Given the description of an element on the screen output the (x, y) to click on. 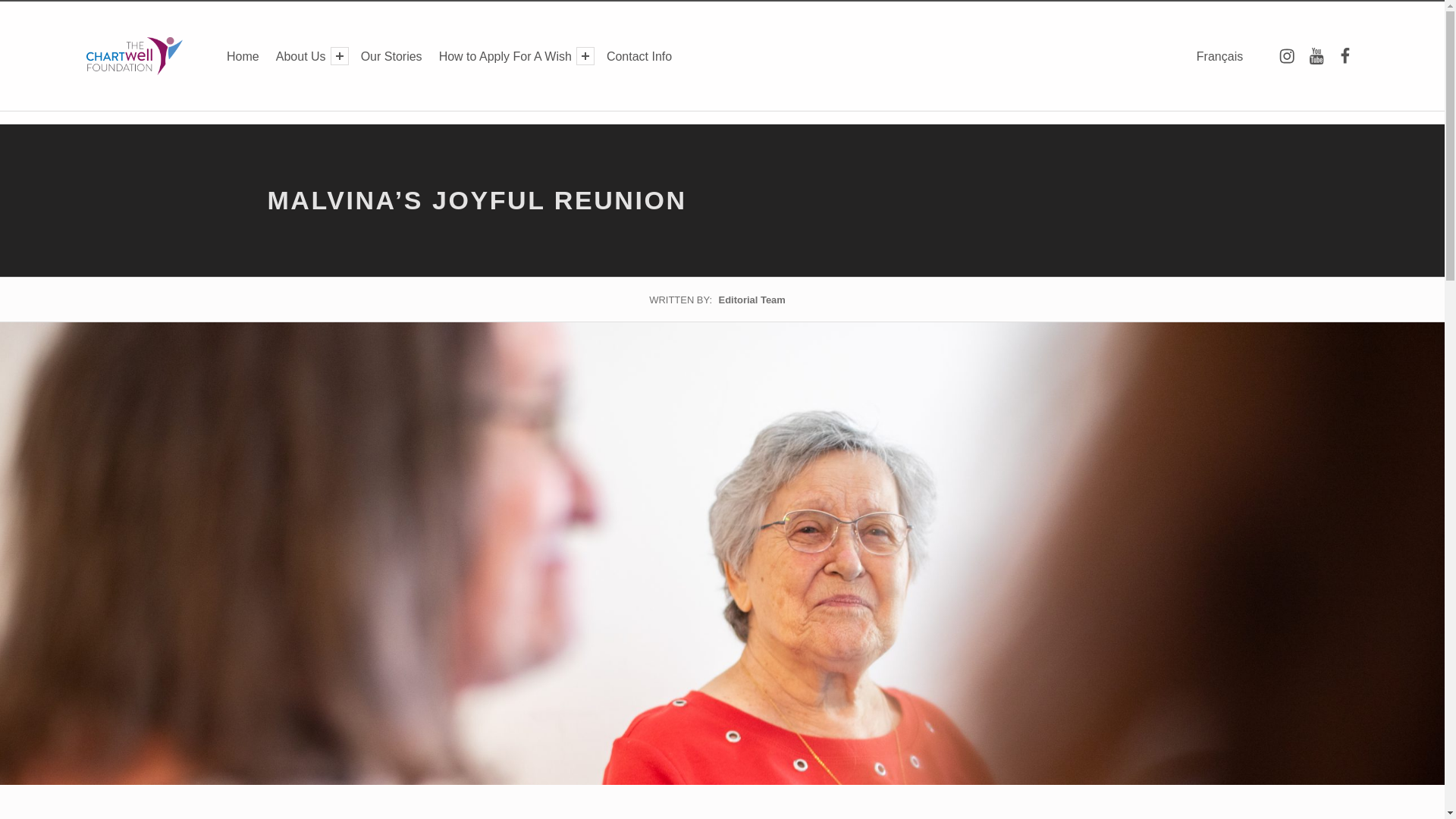
Editorial Team (752, 299)
Our Stories (391, 55)
How to Apply For A Wish (504, 55)
About Us (300, 55)
Home (242, 55)
Contact Info (639, 55)
